Given the description of an element on the screen output the (x, y) to click on. 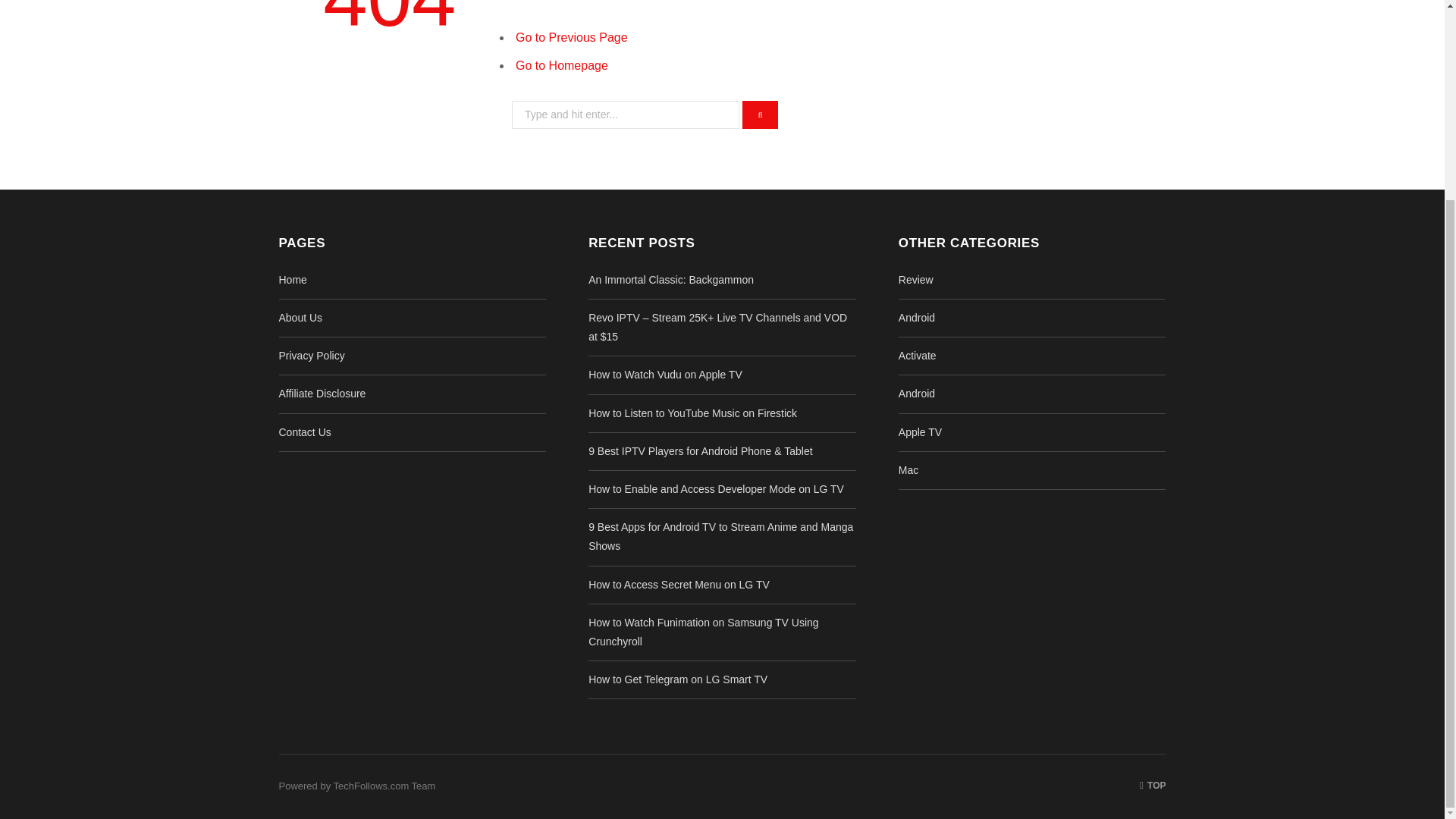
Android (916, 393)
Activate (917, 355)
Search for: (625, 114)
Affiliate Disclosure (322, 393)
Contact Us (305, 431)
How to Watch Funimation on Samsung TV Using Crunchyroll (703, 631)
Go to Homepage (561, 65)
Home (293, 279)
Review (915, 279)
How to Get Telegram on LG Smart TV (677, 679)
How to Access Secret Menu on LG TV (679, 584)
How to Watch Vudu on Apple TV (665, 374)
Android (916, 317)
Apple TV (920, 431)
An Immortal Classic: Backgammon (671, 279)
